Given the description of an element on the screen output the (x, y) to click on. 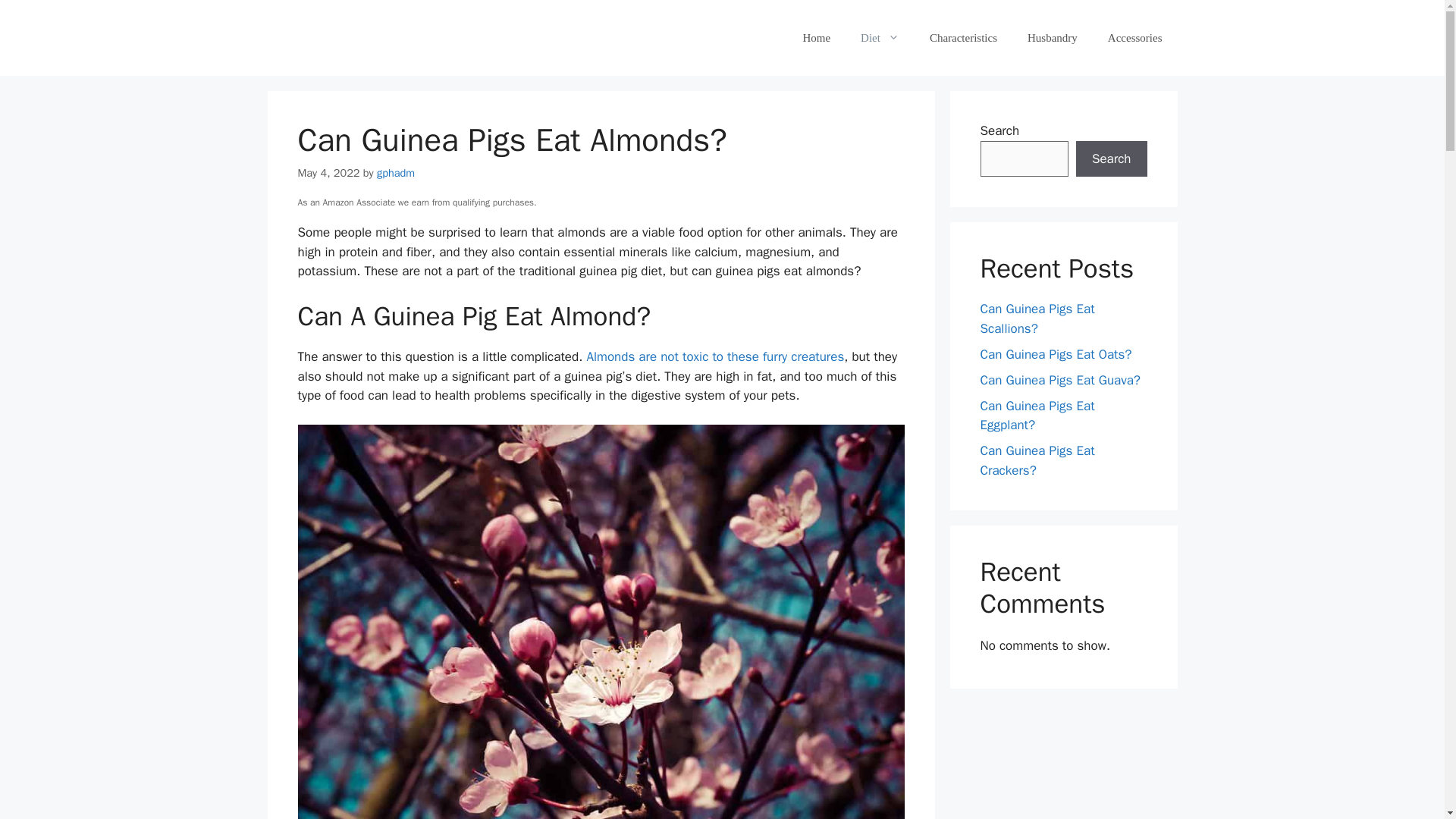
Almonds are not toxic to these furry creatures (715, 356)
Can Guinea Pigs Eat Crackers? (1036, 460)
Can Guinea Pigs Eat Eggplant? (1036, 415)
Characteristics (962, 37)
Can Guinea Pigs Eat Guava? (1059, 379)
Home (816, 37)
Can Guinea Pigs Eat Scallions? (1036, 318)
View all posts by gphadm (395, 172)
Accessories (1135, 37)
Diet (879, 37)
